Given the description of an element on the screen output the (x, y) to click on. 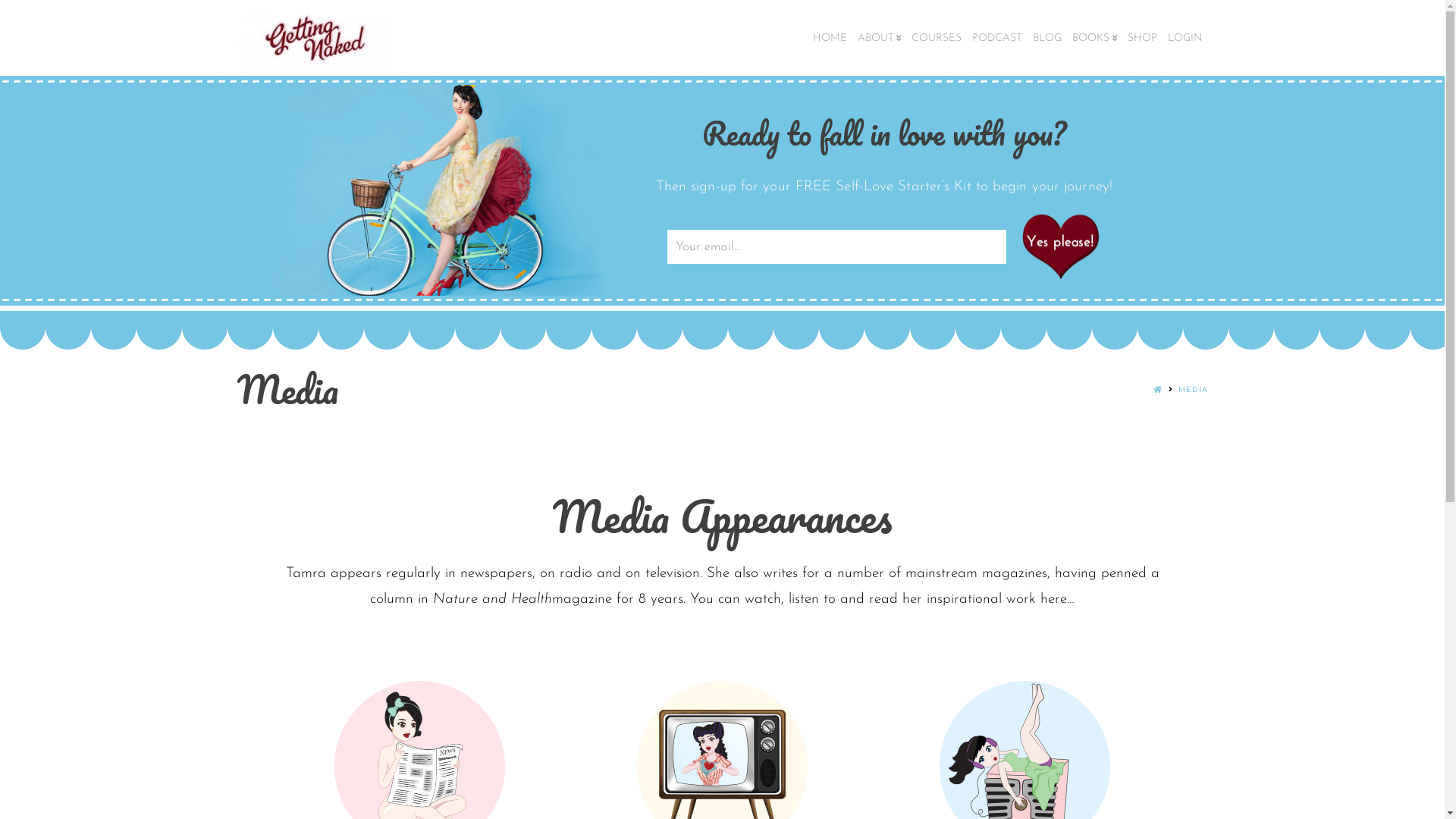
HOME Element type: text (828, 37)
LOGIN Element type: text (1184, 37)
BLOG Element type: text (1046, 37)
BOOKS Element type: text (1094, 37)
SHOP Element type: text (1142, 37)
MEDIA Element type: text (1193, 390)
PODCAST Element type: text (996, 37)
ABOUT Element type: text (879, 37)
COURSES Element type: text (936, 37)
Strip back the layers mentally and create a life you LOVE! Element type: hover (312, 38)
